Given the description of an element on the screen output the (x, y) to click on. 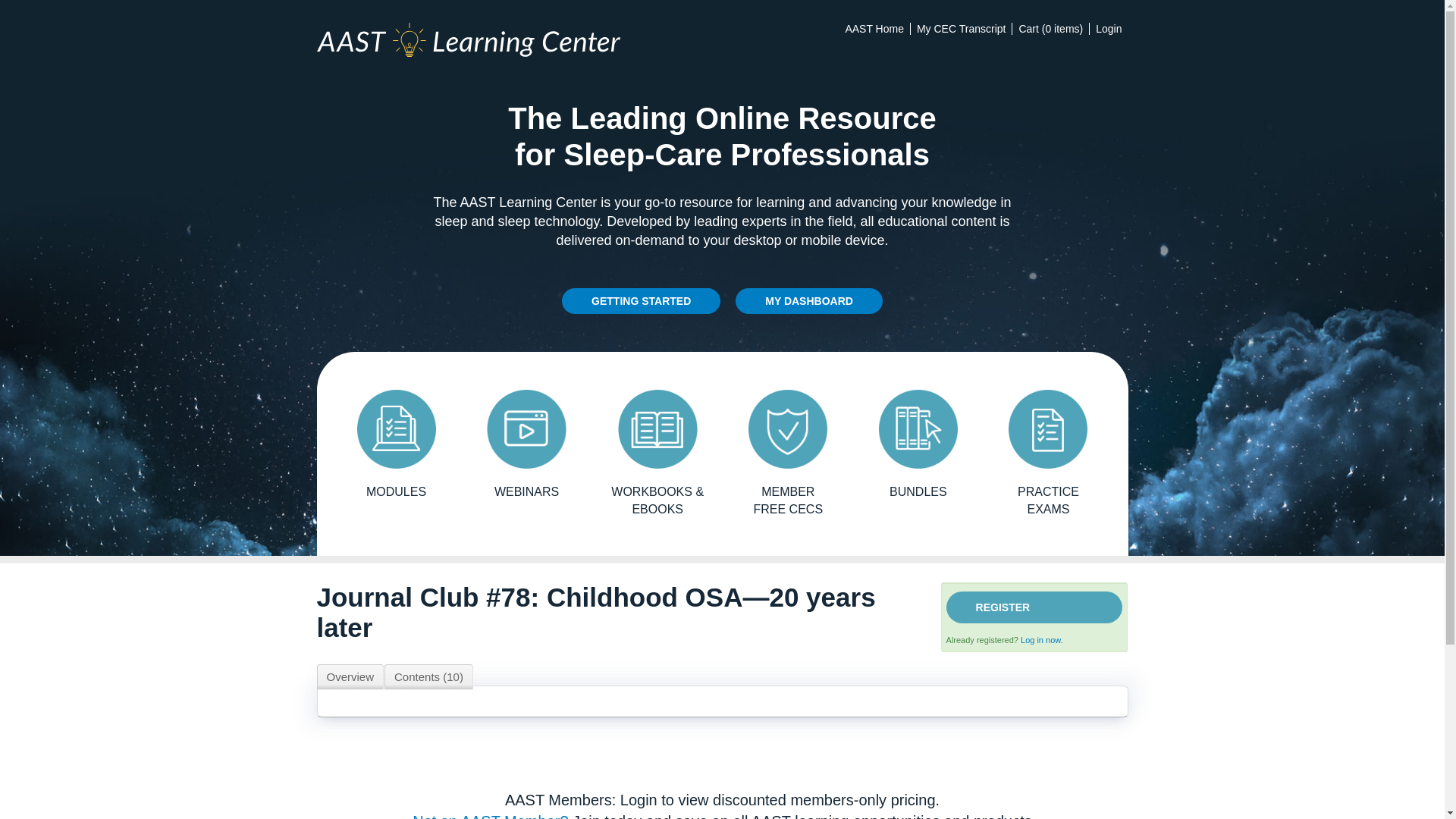
MY DASHBOARD (808, 300)
WEBINARS (526, 444)
BUNDLES (918, 444)
Log in now. (1041, 639)
Overview (350, 677)
Login (1108, 28)
My CEC Transcript (960, 28)
AAST Home (874, 28)
MODULES (396, 444)
REGISTER (1034, 607)
GETTING STARTED (641, 300)
